Given the description of an element on the screen output the (x, y) to click on. 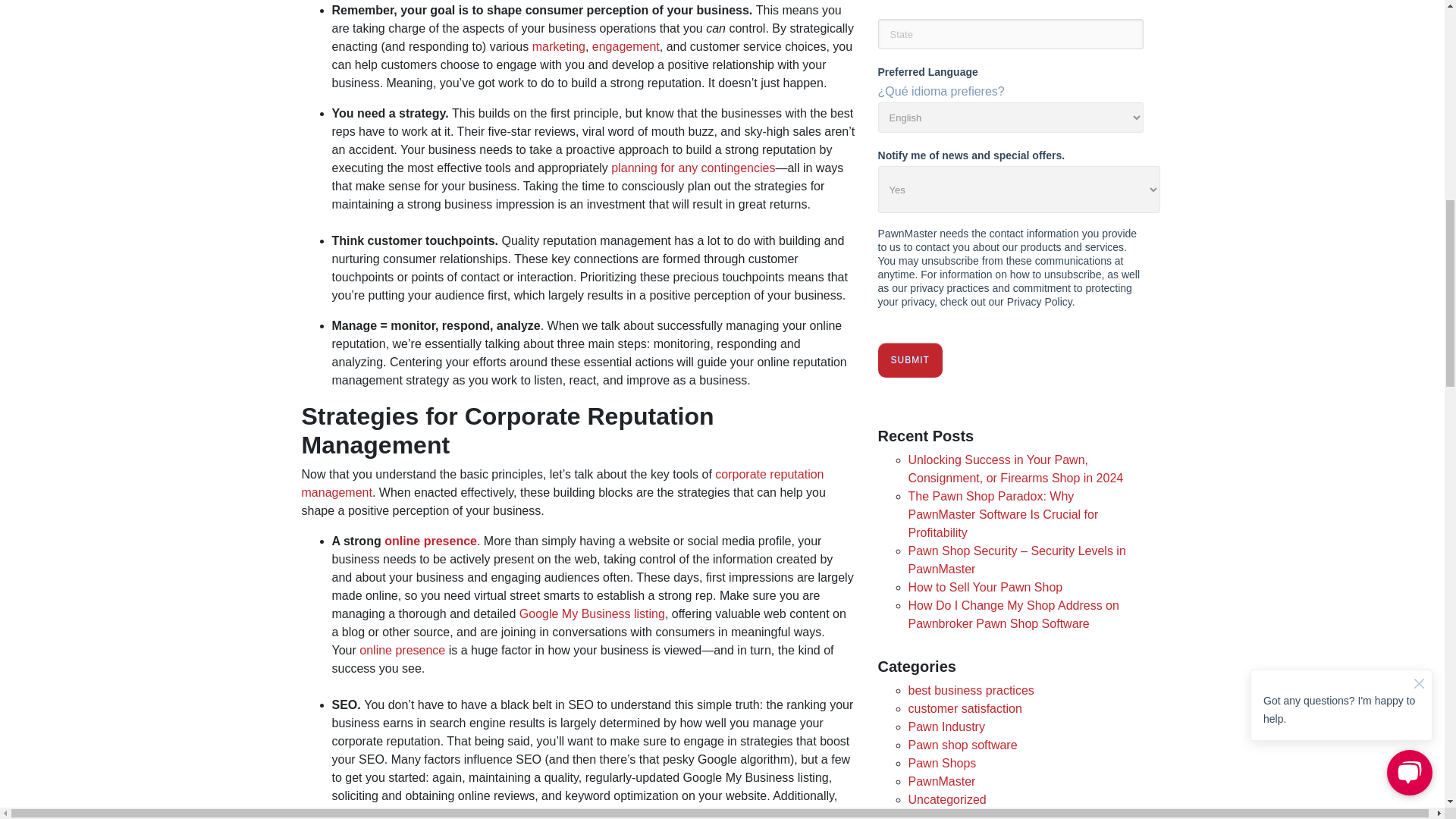
Submit (909, 360)
